Given the description of an element on the screen output the (x, y) to click on. 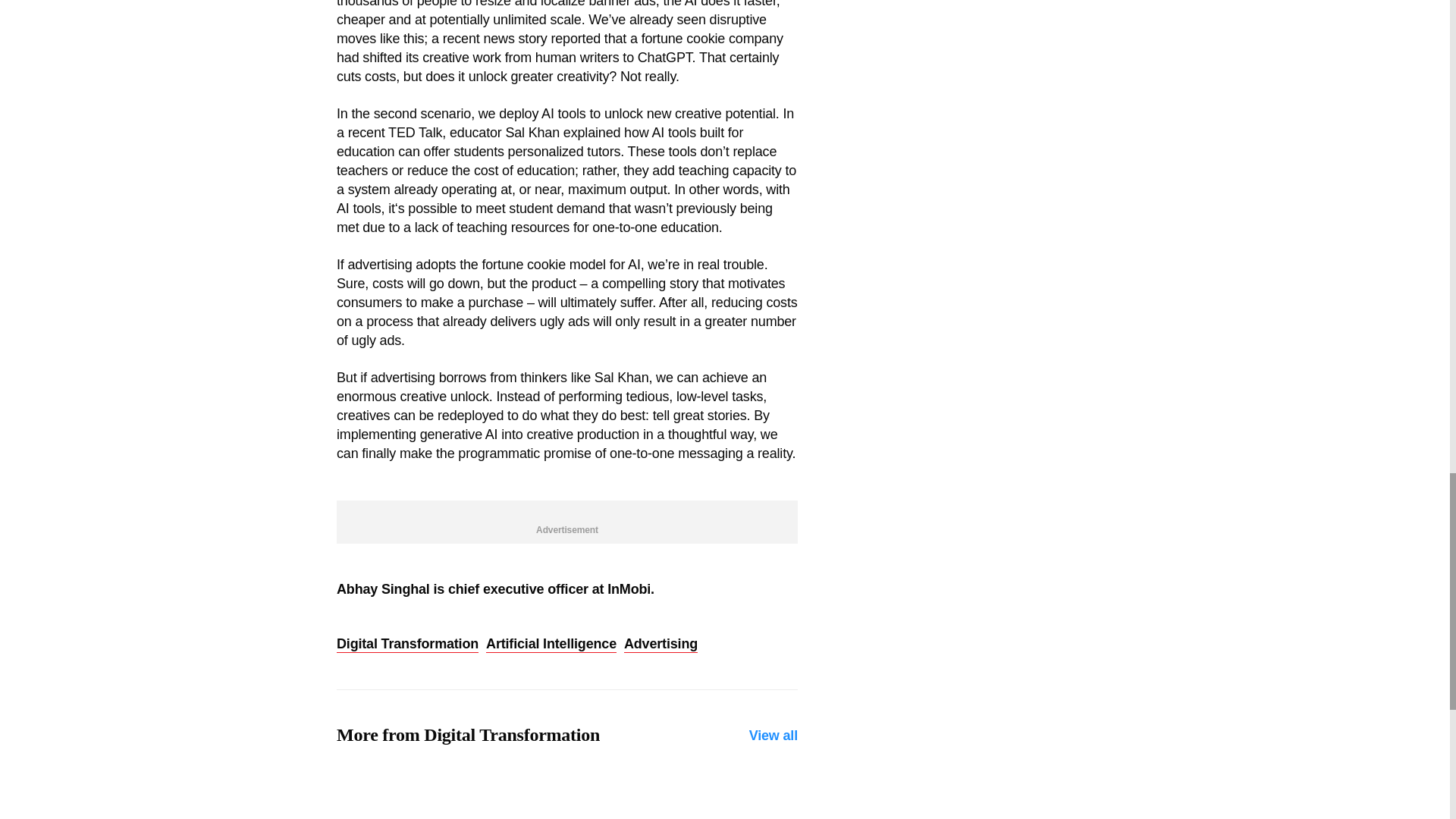
Artificial Intelligence (550, 644)
View all (773, 735)
Advertising (660, 644)
Digital Transformation (407, 644)
